Given the description of an element on the screen output the (x, y) to click on. 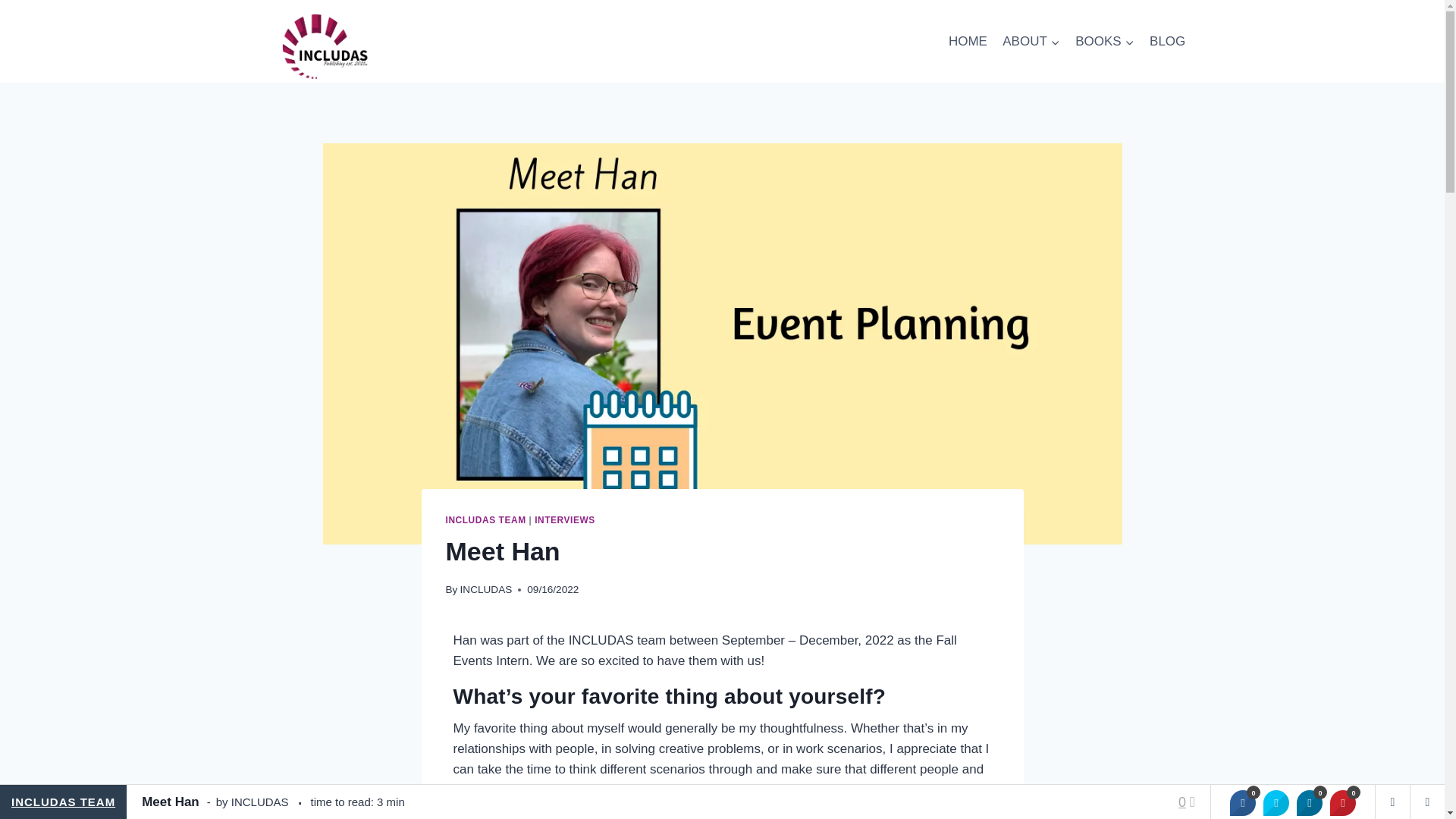
INCLUDAS TEAM (485, 520)
Share on Linkedin (1309, 802)
BOOKS (1104, 41)
Share on Facebook (1242, 802)
HOME (967, 41)
Share on Twitter (1275, 802)
BLOG (1167, 41)
ABOUT (1030, 41)
INTERVIEWS (564, 520)
INCLUDAS (486, 589)
